Given the description of an element on the screen output the (x, y) to click on. 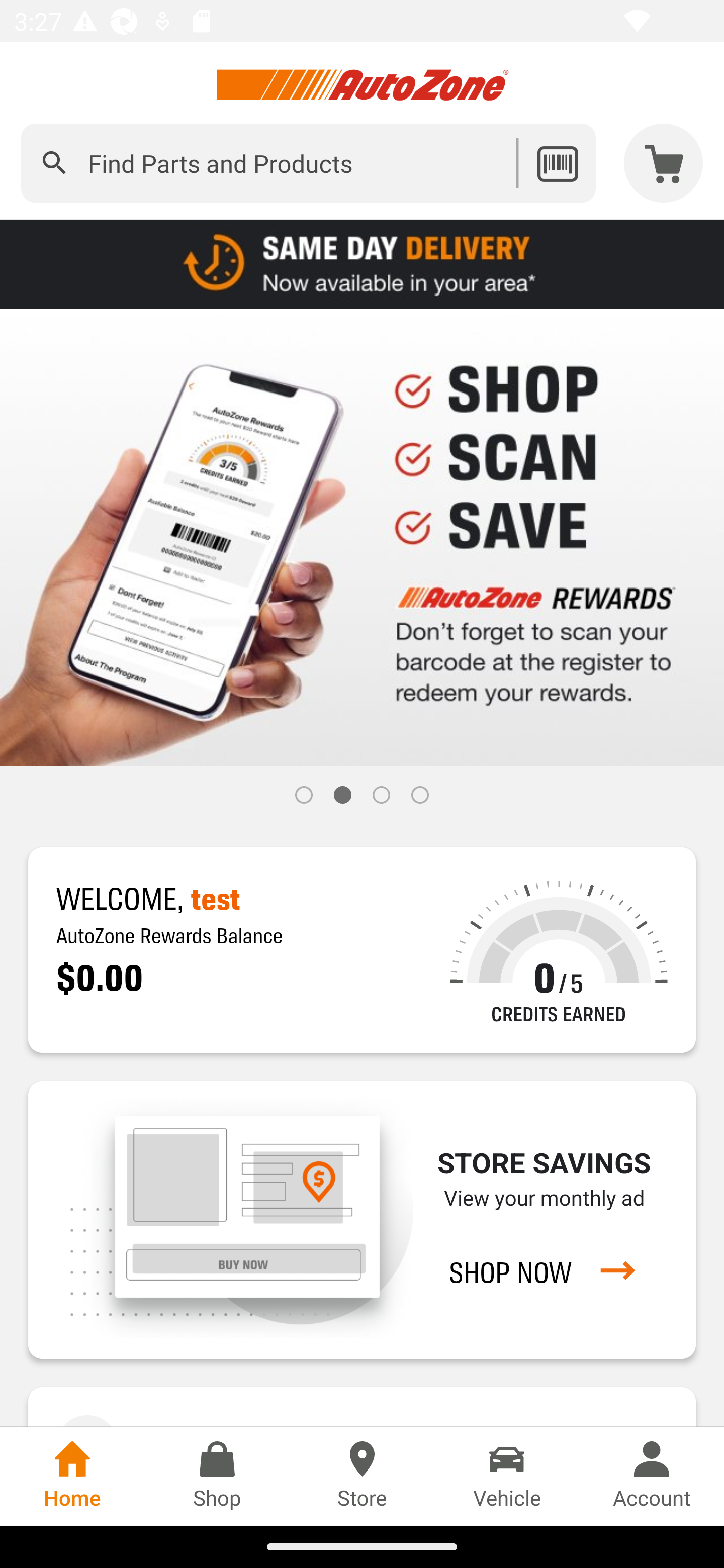
 scan-product-to-search  (557, 162)
 (54, 163)
Cart, no items  (663, 162)
Same Day Delivery - now available in your area* (362, 262)
Home (72, 1475)
Shop (216, 1475)
Store (361, 1475)
Vehicle (506, 1475)
Account (651, 1475)
